Given the description of an element on the screen output the (x, y) to click on. 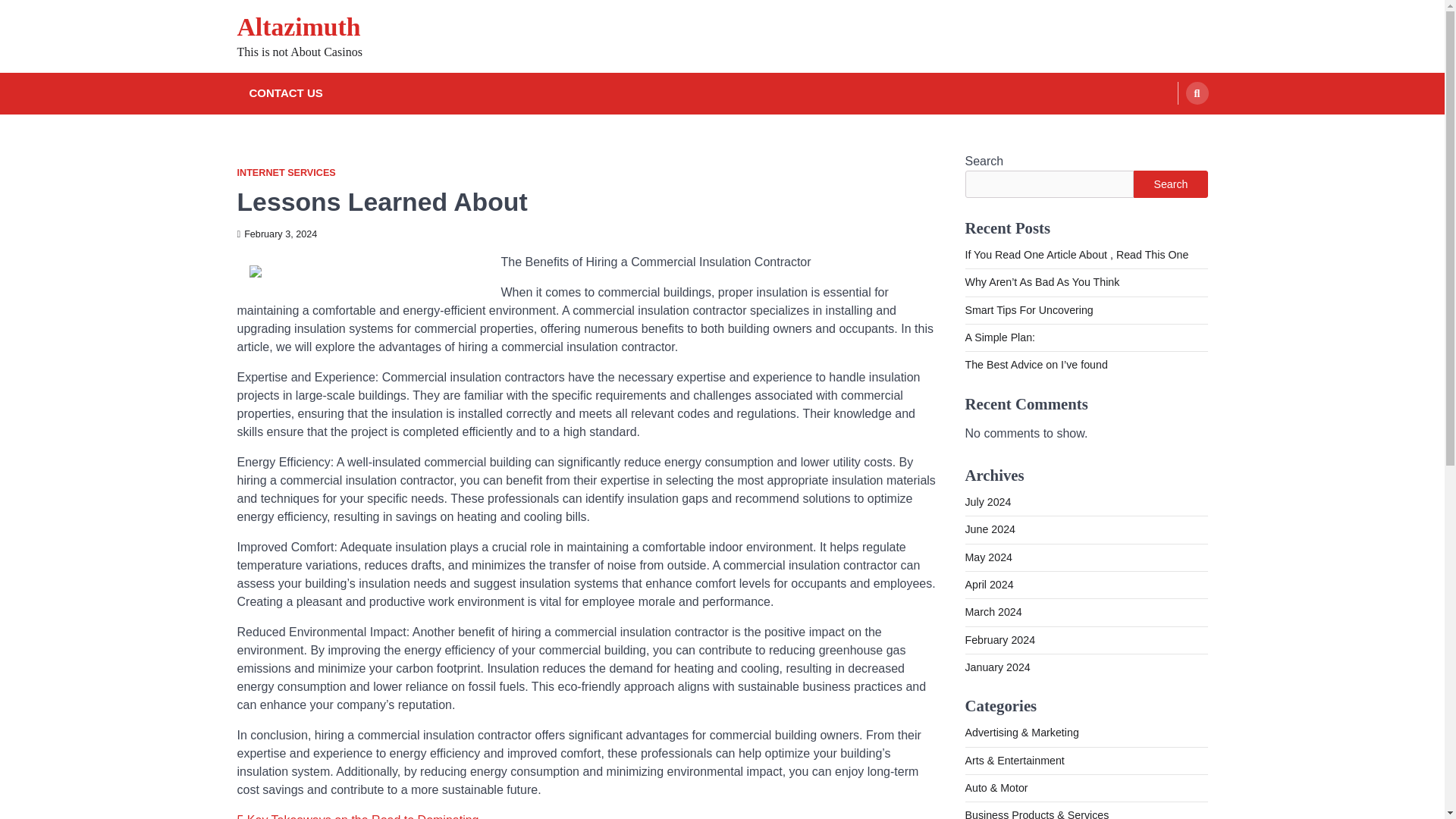
June 2024 (988, 529)
If You Read One Article About , Read This One (1075, 254)
February 3, 2024 (276, 234)
February 2024 (999, 639)
A Simple Plan: (999, 337)
Search (1170, 184)
July 2024 (986, 501)
March 2024 (992, 612)
May 2024 (987, 557)
INTERNET SERVICES (284, 173)
Search (1197, 92)
Search (1168, 128)
CONTACT US (286, 93)
April 2024 (988, 584)
5 Key Takeaways on the Road to Dominating (357, 816)
